Given the description of an element on the screen output the (x, y) to click on. 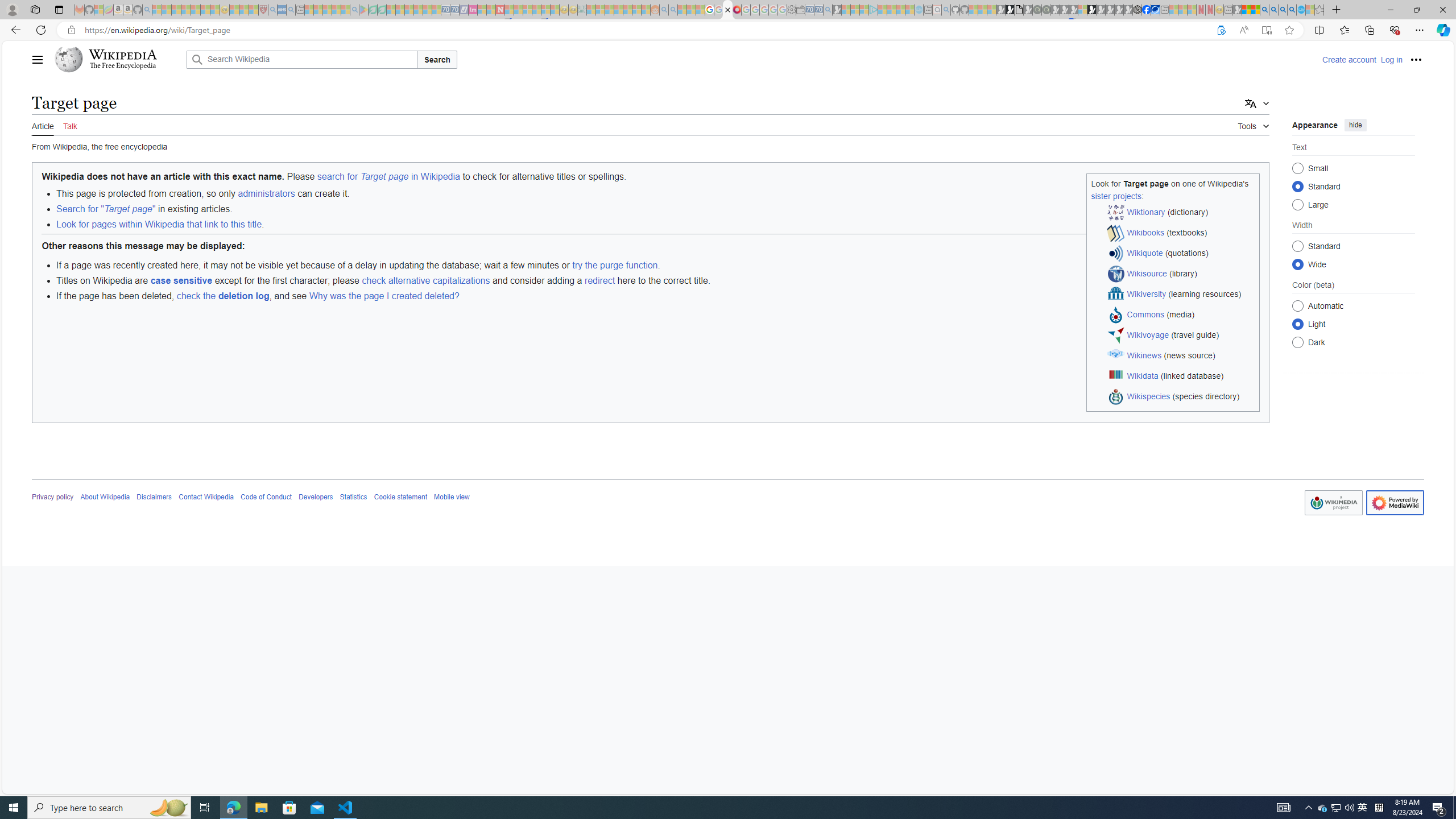
Privacy policy (53, 496)
Wiktionary (dictionary) (1181, 212)
administrators (266, 194)
Wikispecies (1148, 396)
case sensitive (180, 280)
Local - MSN - Sleeping (253, 9)
Sign in to your account - Sleeping (1082, 9)
